Given the description of an element on the screen output the (x, y) to click on. 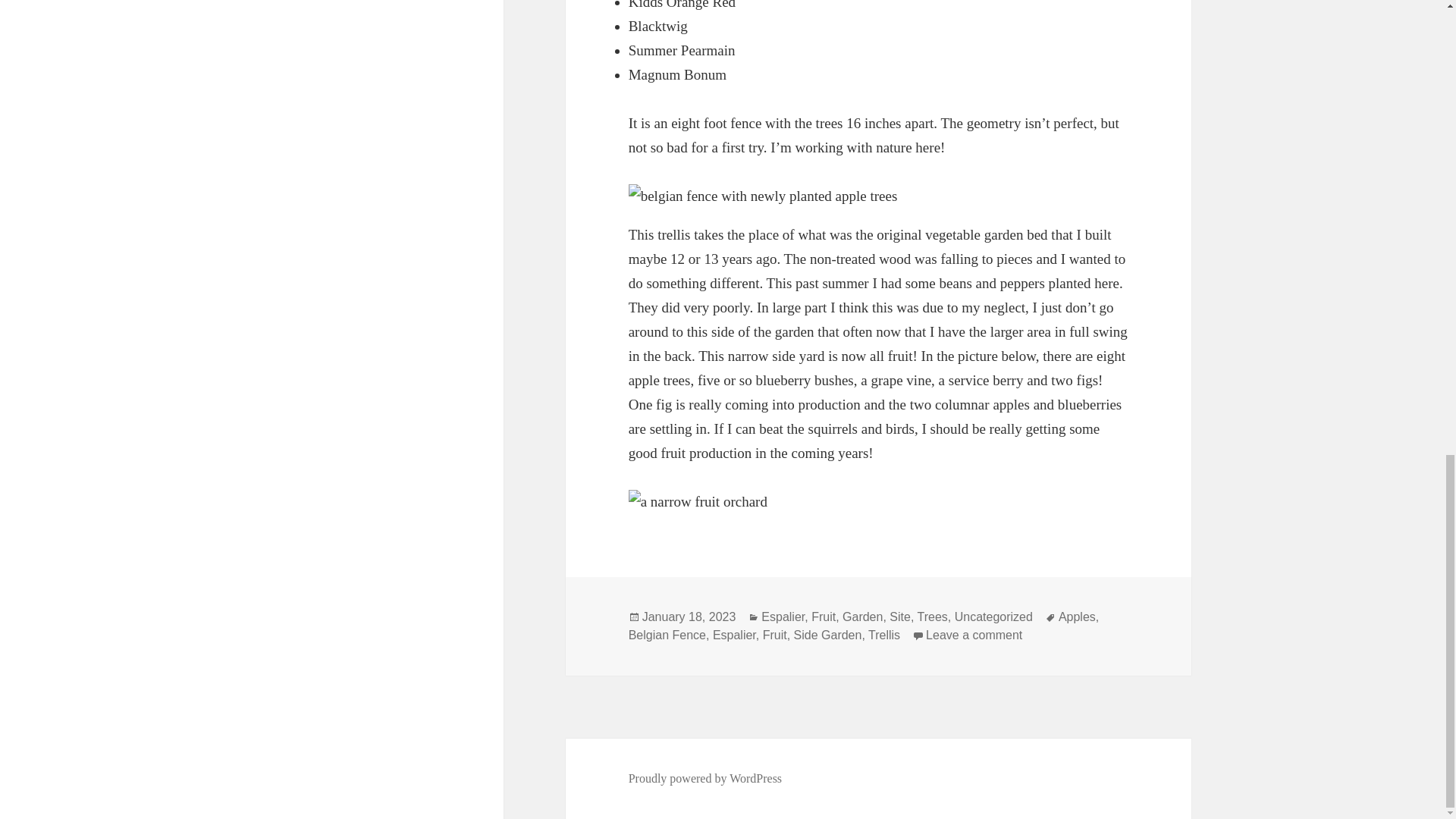
Espalier (734, 635)
Trees (974, 635)
Espalier (932, 617)
Garden (783, 617)
Belgian Fence (862, 617)
January 18, 2023 (667, 635)
Uncategorized (689, 617)
Trellis (993, 617)
Side Garden (883, 635)
Fruit (827, 635)
Proudly powered by WordPress (774, 635)
Fruit (704, 778)
Site (822, 617)
Apples (900, 617)
